Given the description of an element on the screen output the (x, y) to click on. 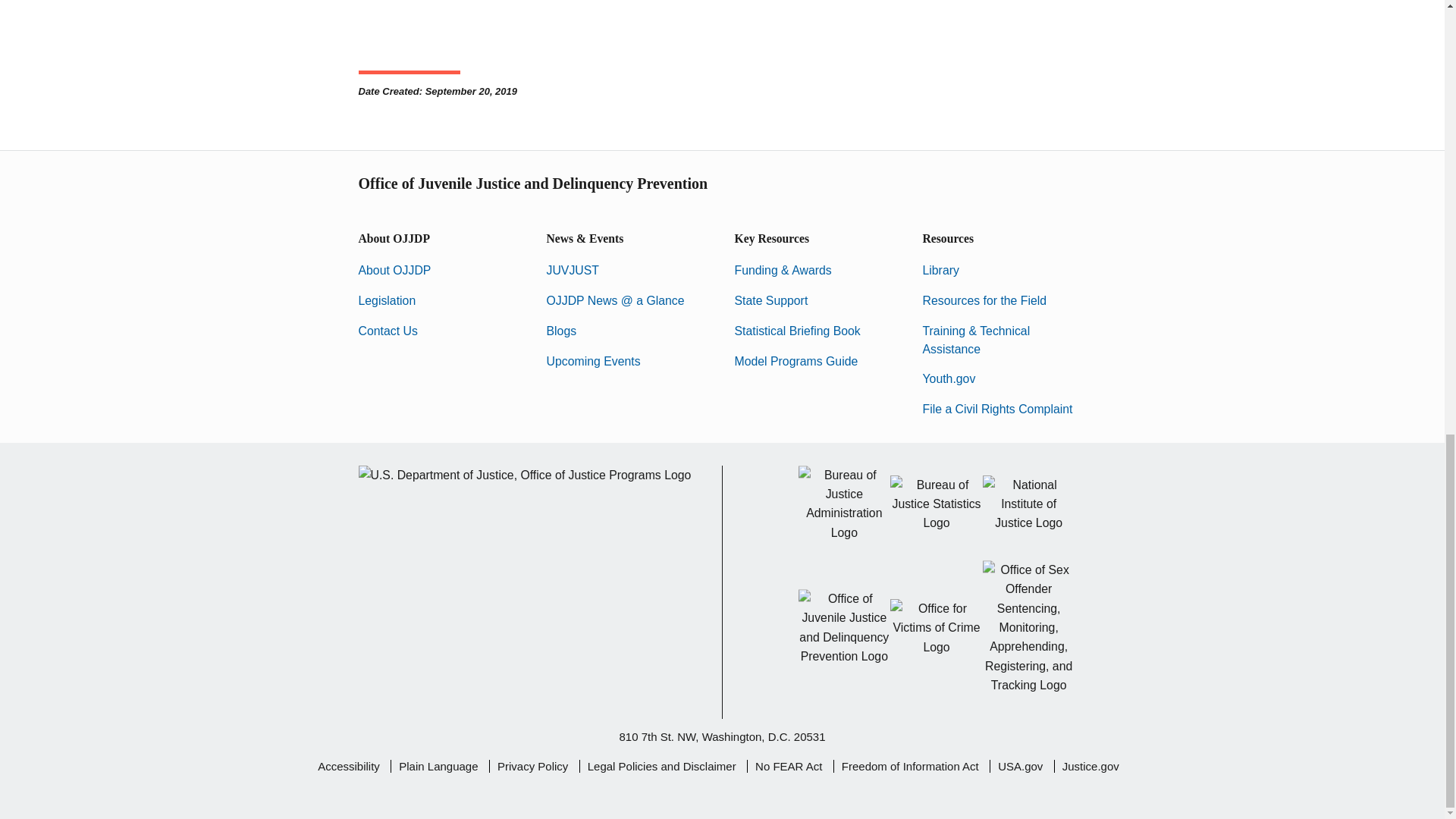
About OJJDP (394, 269)
Legislation (386, 300)
Contact Us (387, 330)
